Given the description of an element on the screen output the (x, y) to click on. 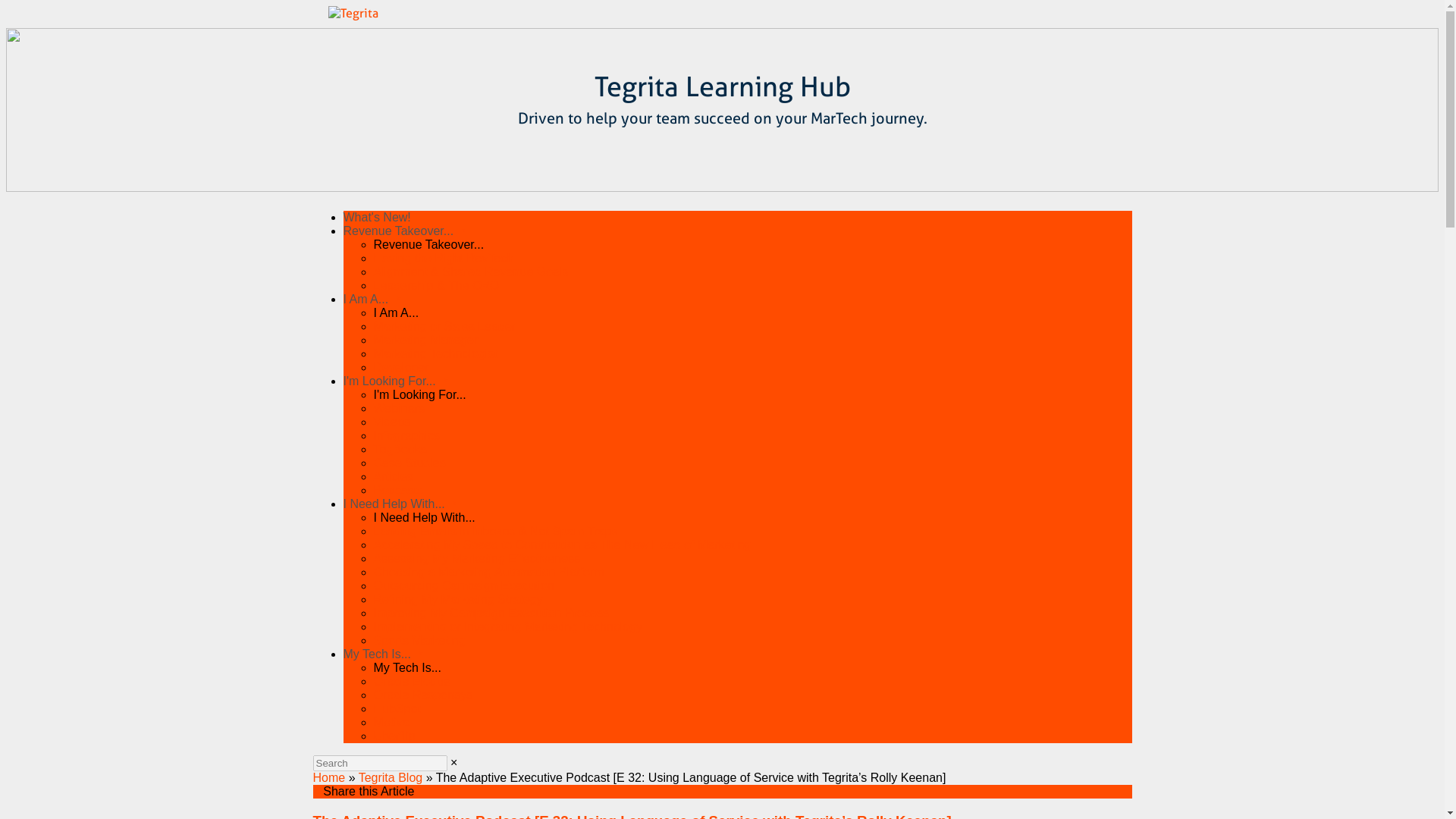
Infographics (405, 435)
Developer (400, 367)
My Tech Is... (382, 653)
Having the Right RevTech (442, 257)
Articles (392, 476)
Revenue Takeover... (403, 230)
Marketing or Sales Leader (443, 326)
Videos (391, 421)
Implementing or Integrating Marketing Technology (507, 626)
TegBooks (399, 449)
